Given the description of an element on the screen output the (x, y) to click on. 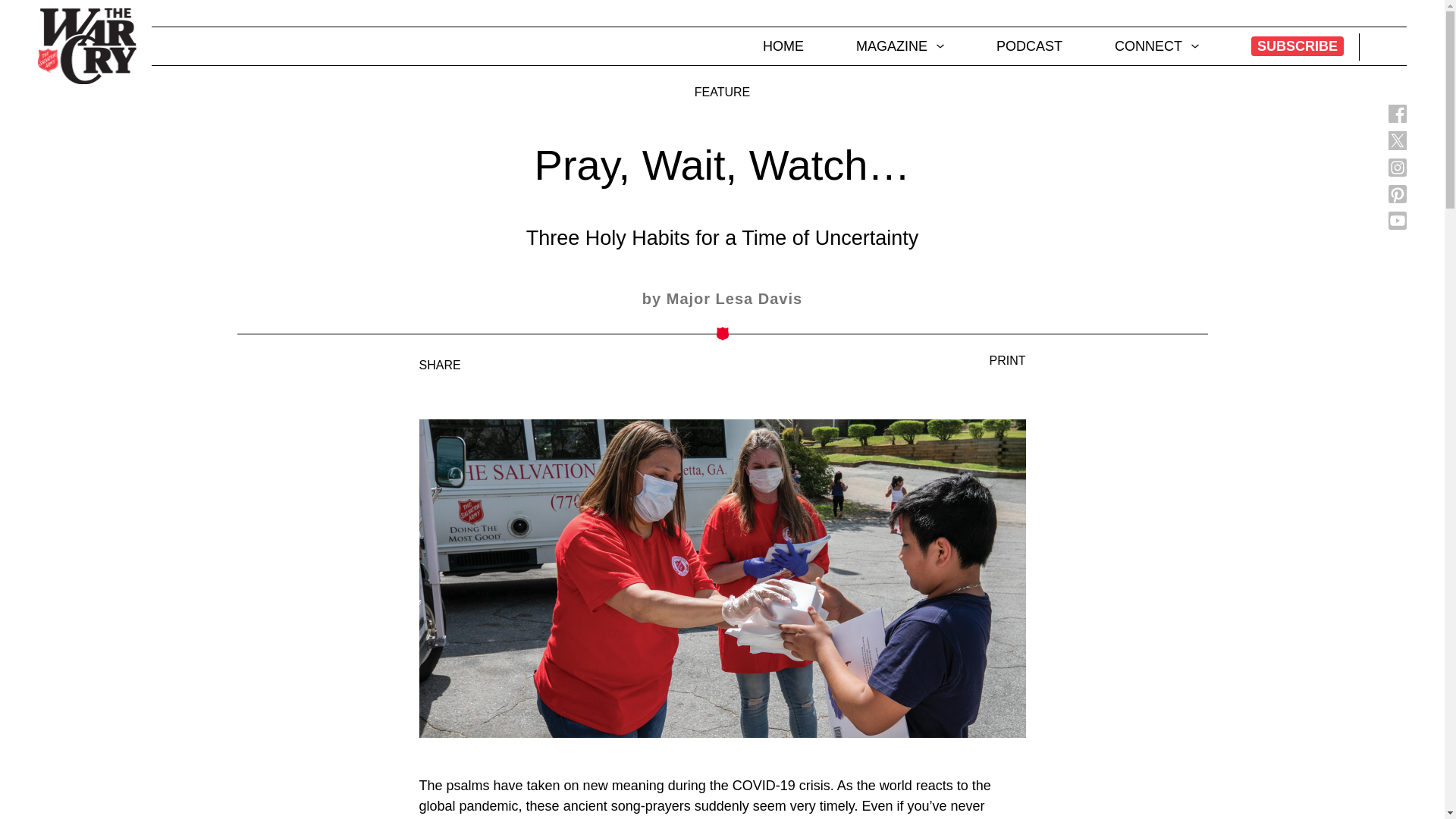
HOME (782, 46)
PODCAST (1028, 46)
PRINT (999, 359)
SUBSCRIBE (1296, 46)
